Given the description of an element on the screen output the (x, y) to click on. 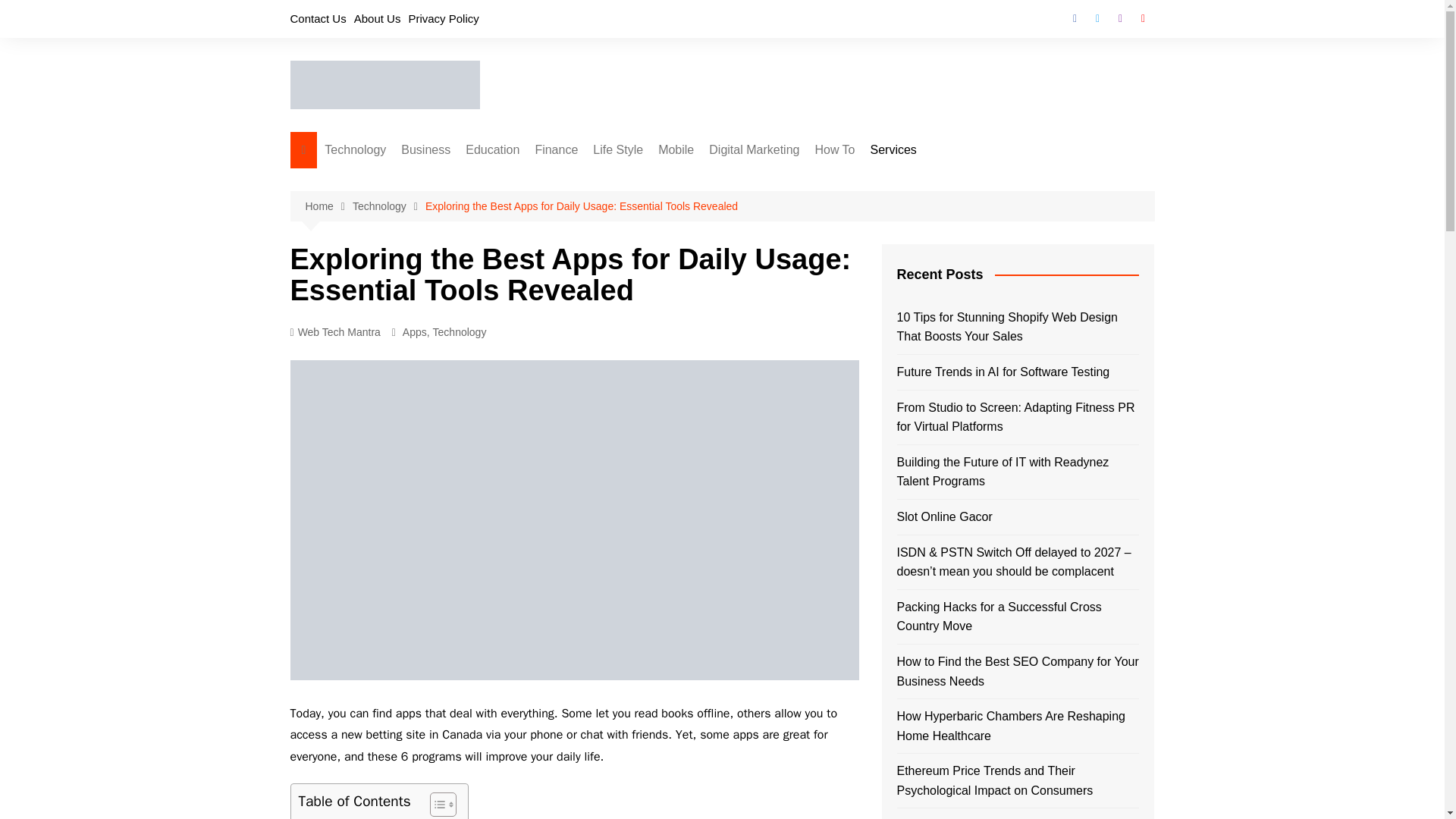
NFTs (400, 305)
Banking (610, 180)
About Us (377, 18)
Big Data (400, 230)
Apps (400, 405)
Web Designing (476, 205)
Youtube (1142, 18)
Business (425, 149)
Life Style (617, 149)
Networking (400, 330)
Software (400, 380)
Top Firms (476, 305)
Twitter (1097, 18)
Cryptocurrency (610, 230)
Website Development (476, 230)
